Given the description of an element on the screen output the (x, y) to click on. 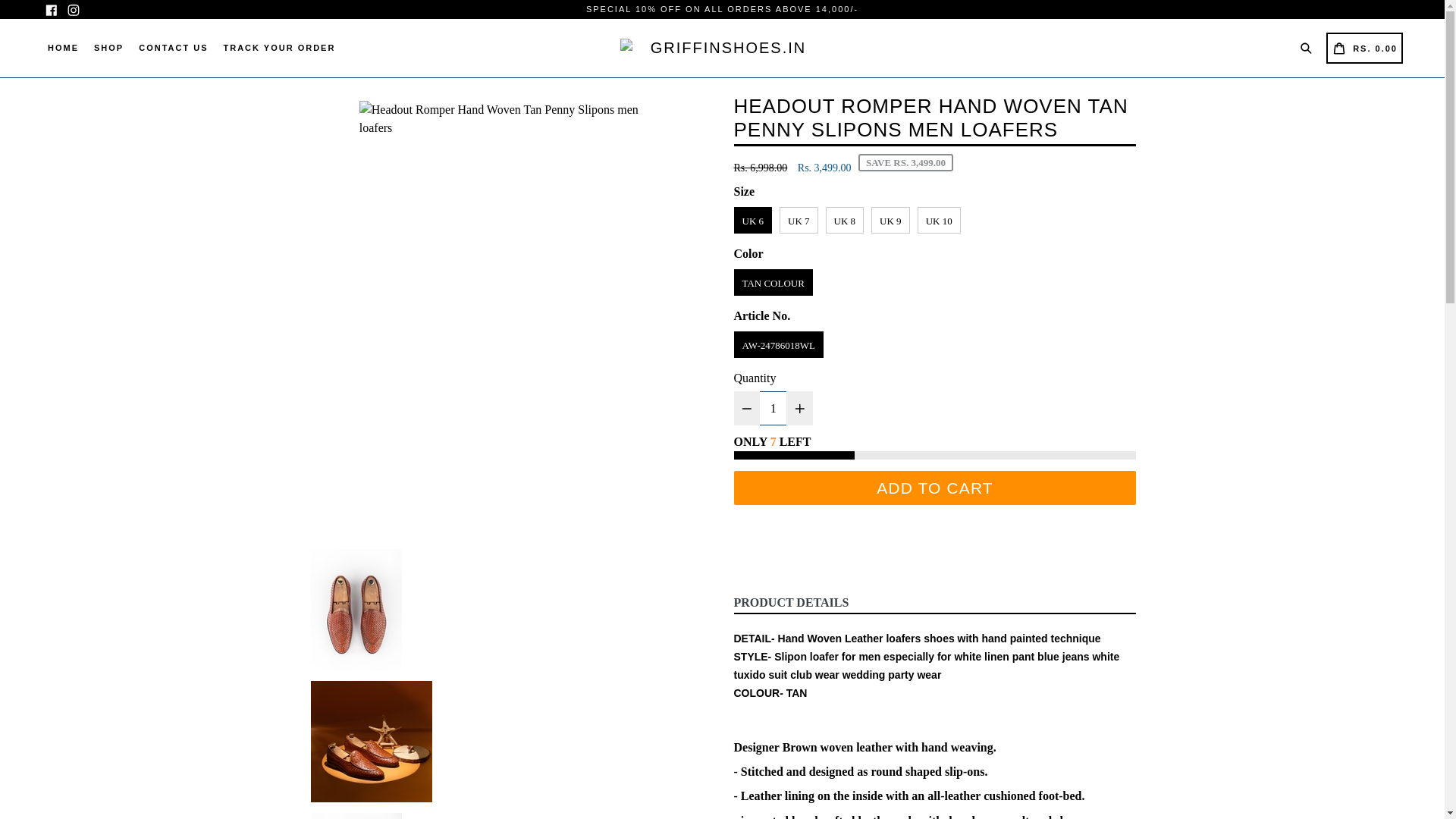
Facebook (1364, 47)
CONTACT US (51, 9)
PRODUCT DETAILS (173, 47)
Search (790, 602)
Instagram (1308, 46)
ADD TO CART (73, 9)
TRACK YOUR ORDER (934, 487)
